Given the description of an element on the screen output the (x, y) to click on. 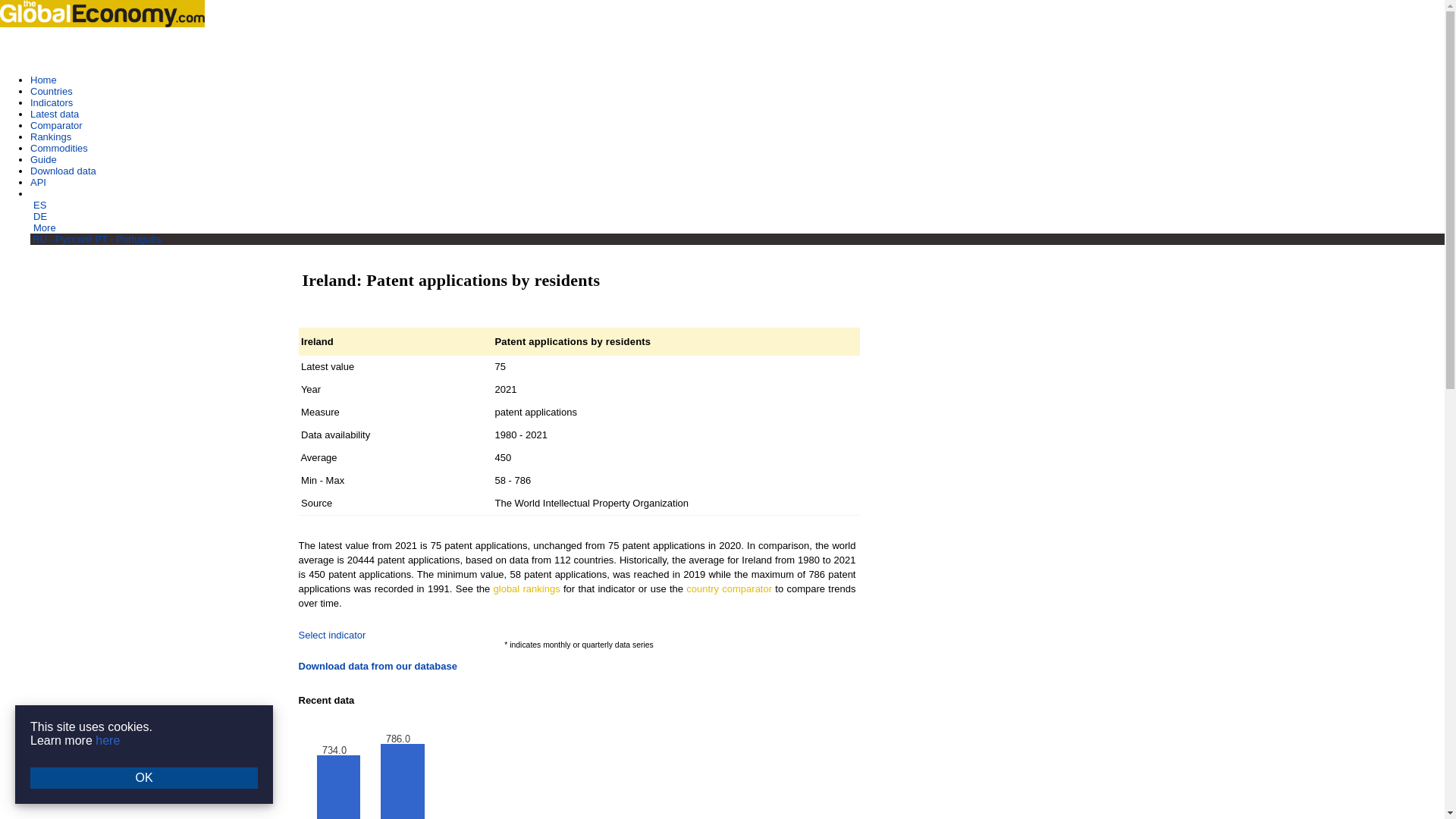
Indicators (51, 102)
Commodities (58, 147)
country comparator (728, 588)
global rankings (526, 588)
The World Intellectual Property Organization (591, 502)
Guide (43, 159)
Home (43, 79)
Rankings (50, 136)
Select indicator (332, 634)
DE (39, 215)
